Given the description of an element on the screen output the (x, y) to click on. 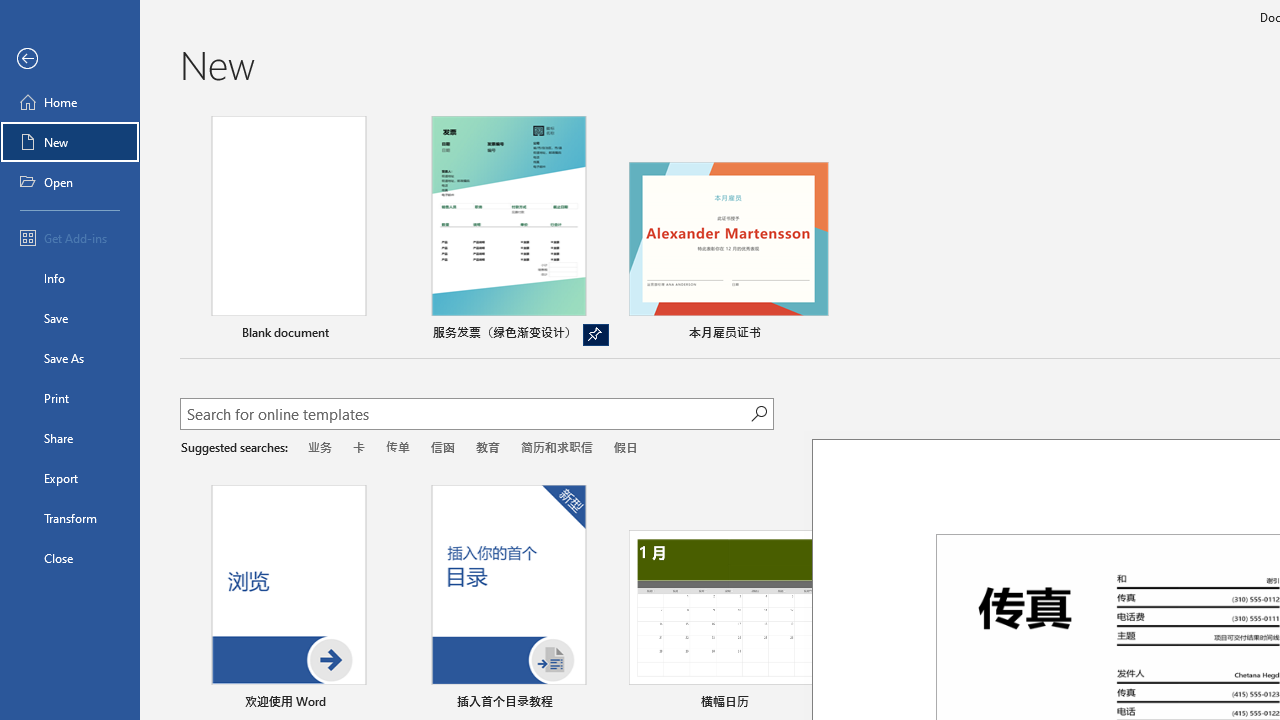
Back (69, 59)
Save As (69, 357)
New (69, 141)
Start searching (758, 413)
Export (69, 477)
Get Add-ins (69, 237)
Info (69, 277)
Blank document (288, 231)
